Given the description of an element on the screen output the (x, y) to click on. 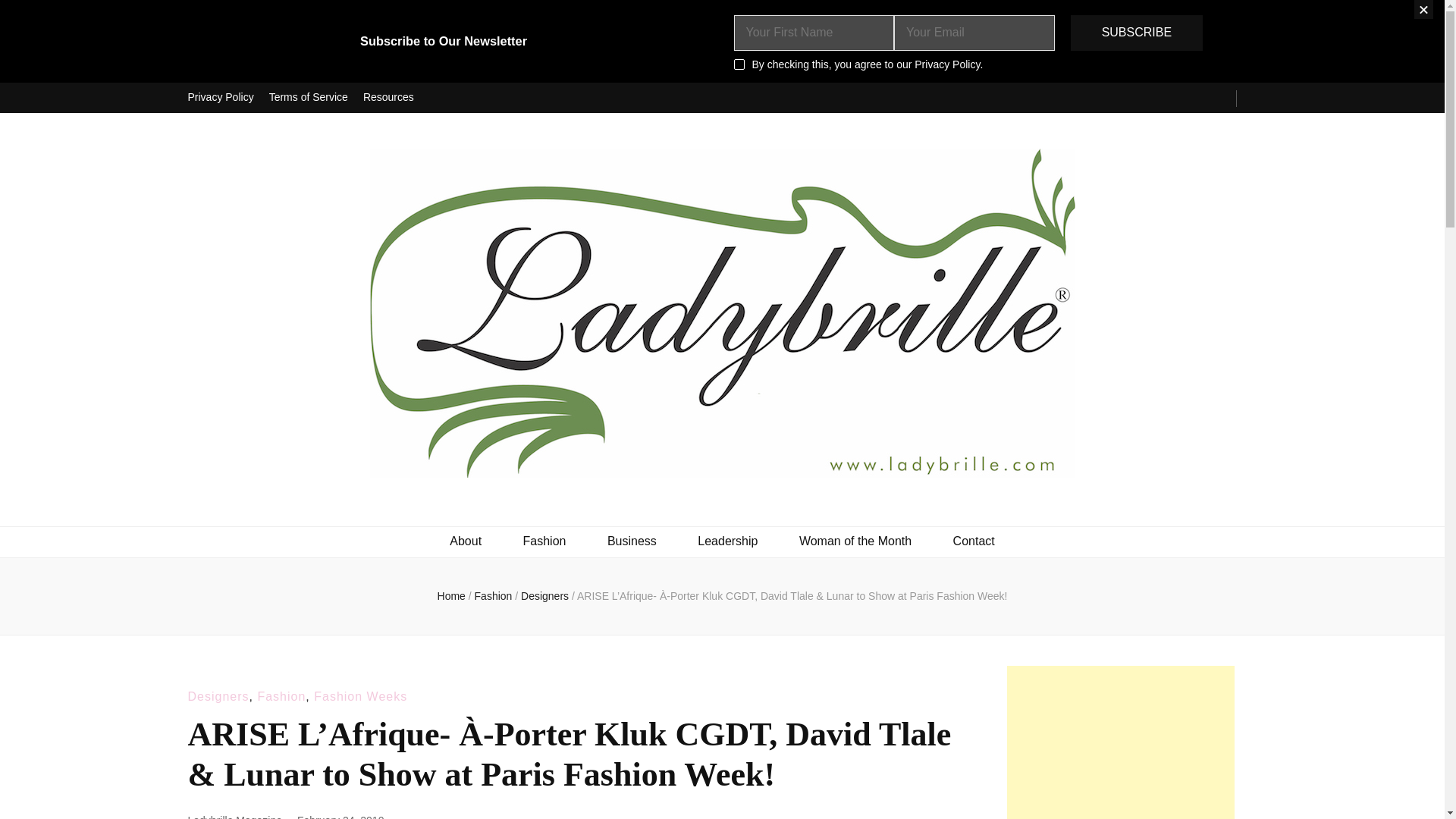
Leadership (727, 541)
Terms of Service (308, 97)
Ladybrille Magazine (234, 816)
Fashion (281, 696)
Fashion (544, 541)
Contact (973, 541)
Fashion Weeks (360, 696)
About (465, 541)
Privacy Policy (220, 97)
Fashion (494, 595)
